Given the description of an element on the screen output the (x, y) to click on. 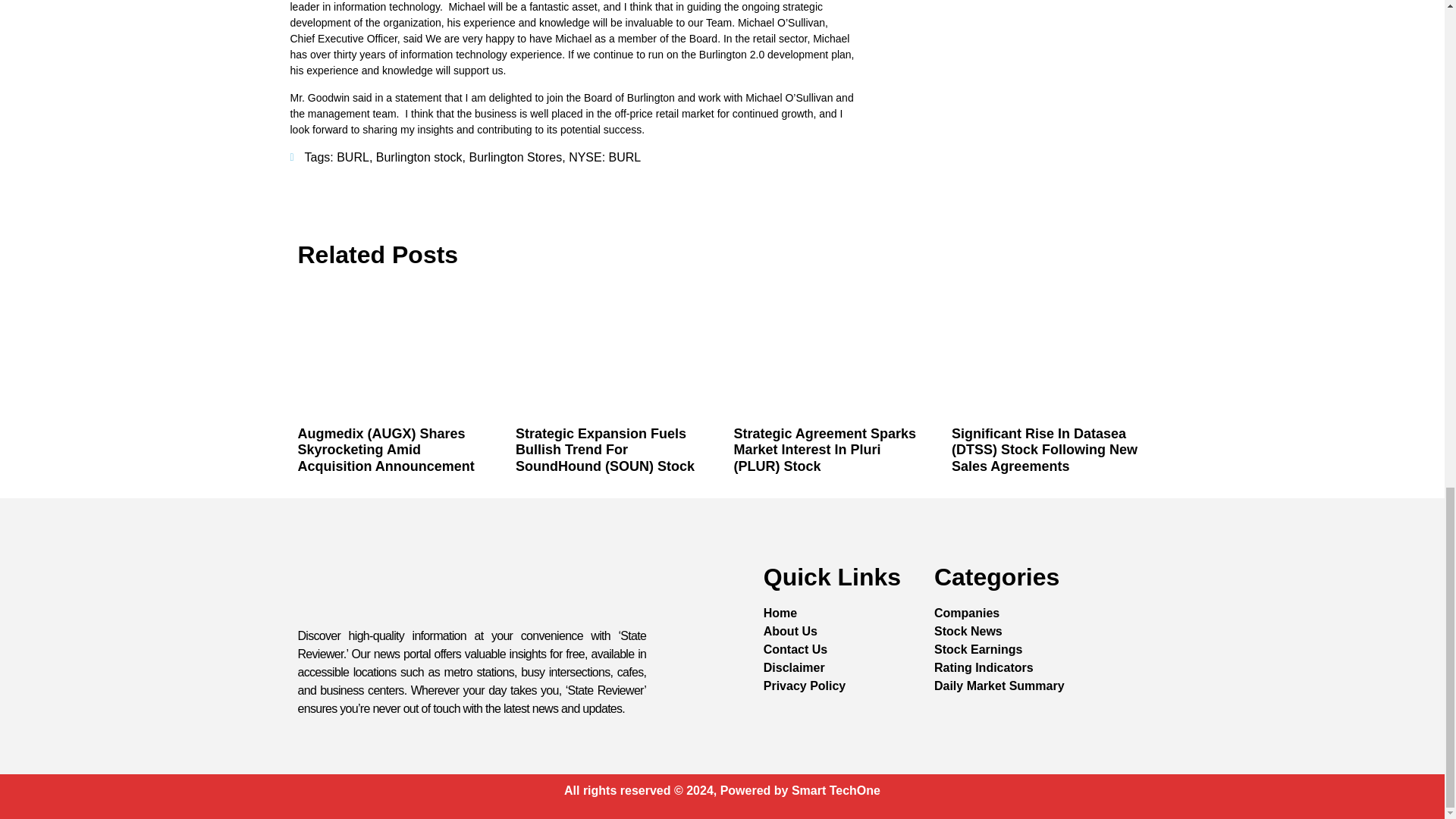
NYSE: BURL (604, 156)
Burlington stock (419, 156)
Burlington Stores (515, 156)
Home (779, 613)
Companies (966, 613)
Stock News (968, 631)
Disclaimer (793, 668)
Contact Us (794, 649)
Privacy Policy (803, 686)
About Us (789, 631)
BURL (352, 156)
